Given the description of an element on the screen output the (x, y) to click on. 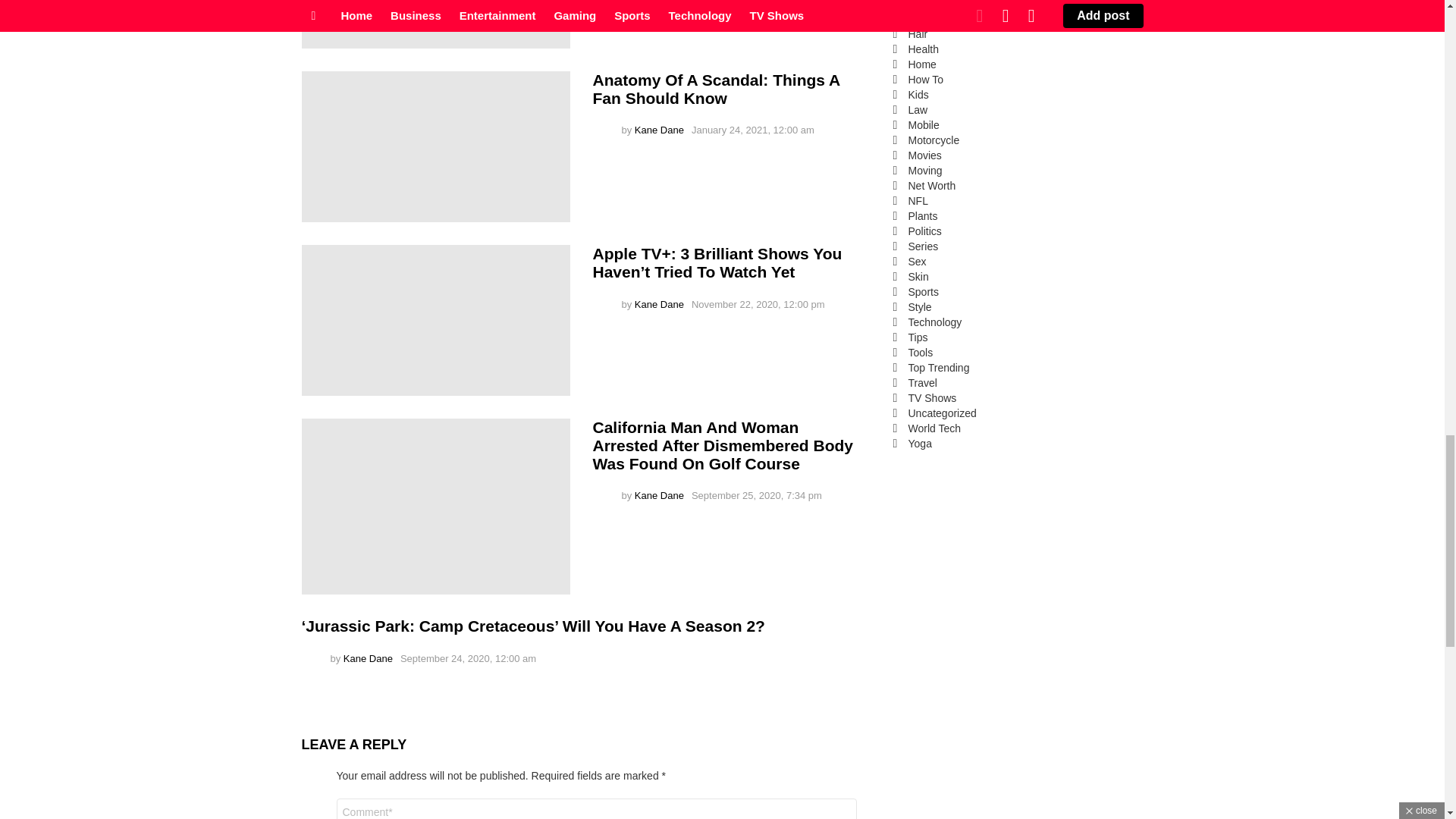
Anatomy Of A Scandal: Things A Fan Should Know (435, 146)
Posts by Kane Dane (659, 304)
Posts by Kane Dane (659, 129)
2024 Will Feature A Minimum 3 Marvel Movies (435, 24)
